Given the description of an element on the screen output the (x, y) to click on. 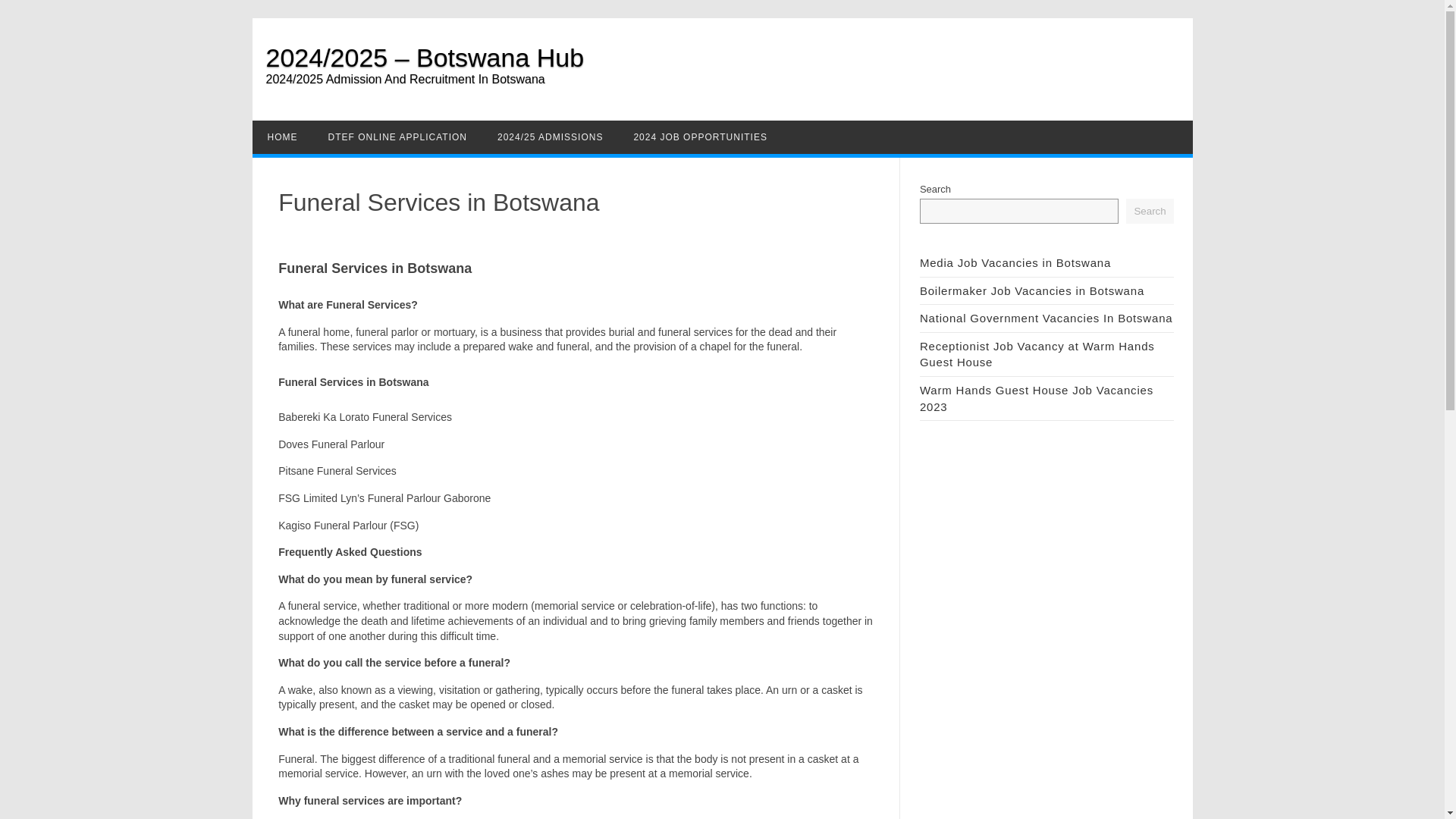
Search (1149, 211)
Media Job Vacancies in Botswana (1015, 262)
2024 JOB OPPORTUNITIES (700, 136)
Warm Hands Guest House Job Vacancies 2023 (1036, 398)
Receptionist Job Vacancy at Warm Hands Guest House (1037, 354)
DTEF ONLINE APPLICATION (397, 136)
National Government Vacancies In Botswana (1046, 318)
HOME (282, 136)
Boilermaker Job Vacancies in Botswana (1032, 290)
